Given the description of an element on the screen output the (x, y) to click on. 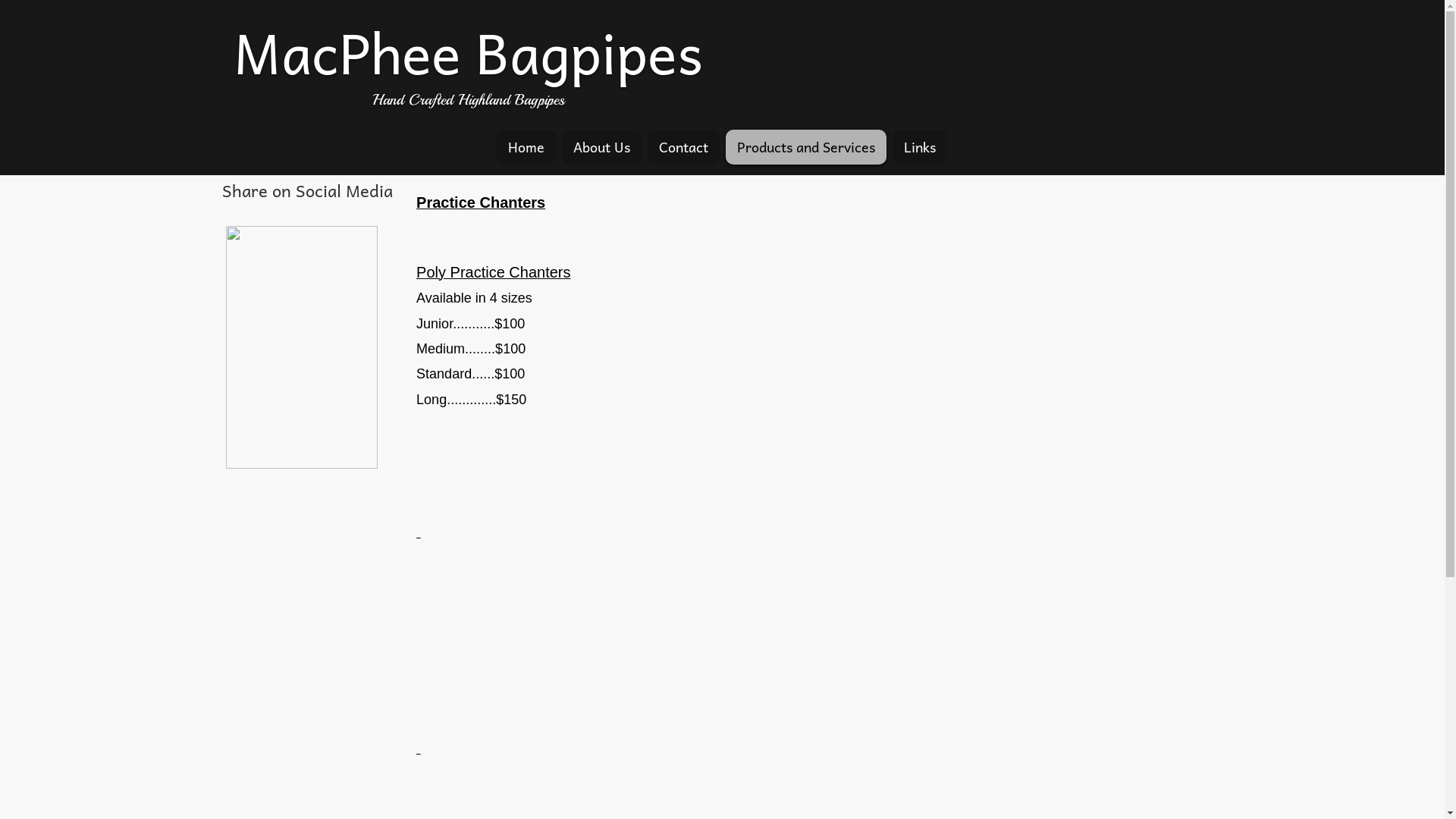
Home Element type: text (525, 146)
Links Element type: text (919, 146)
Products and Services Element type: text (805, 146)
About Us Element type: text (601, 146)
Contact Element type: text (683, 146)
